Given the description of an element on the screen output the (x, y) to click on. 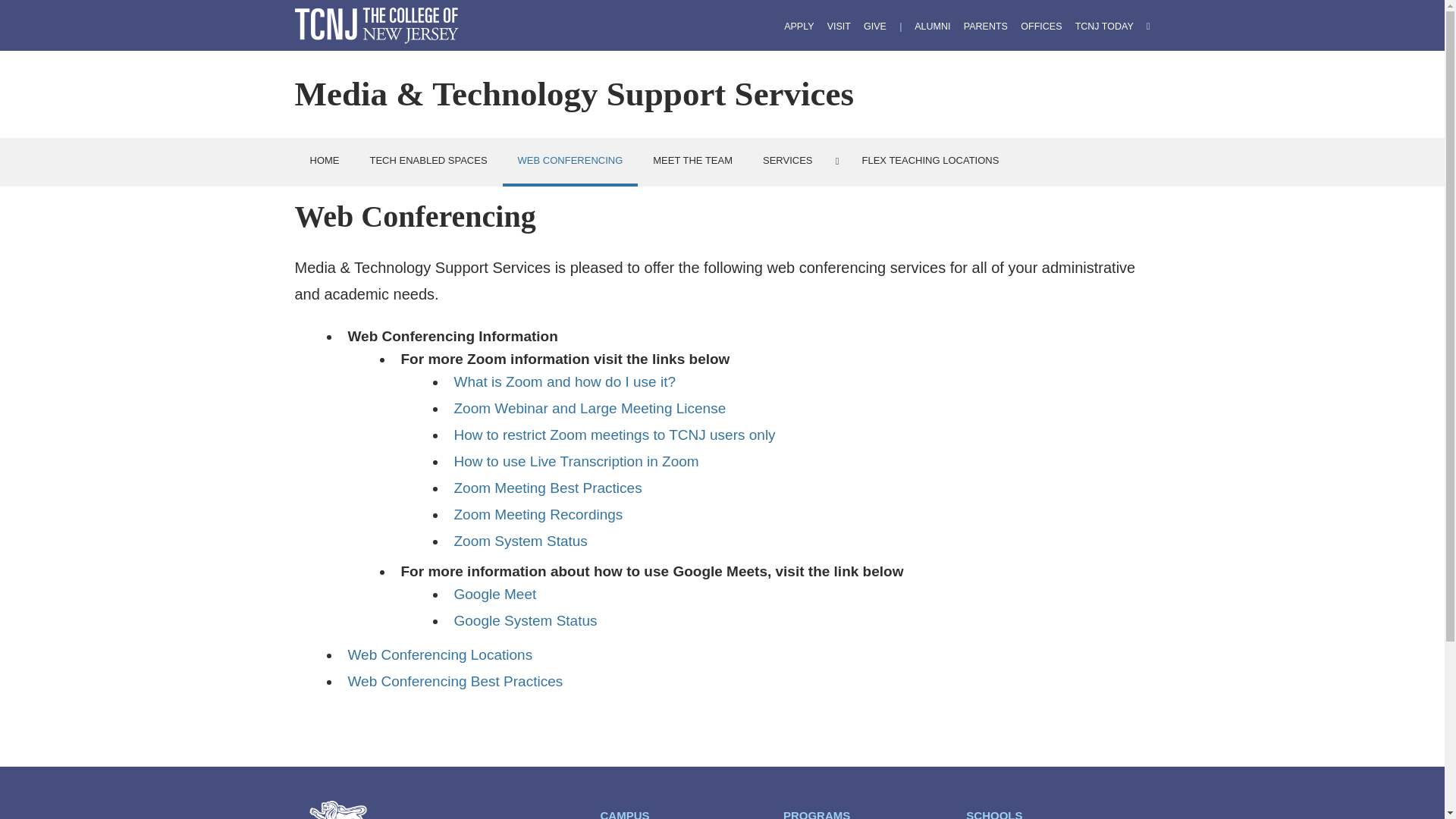
HOME (323, 160)
GIVE (874, 26)
Zoom Webinar and Large Meeting License (588, 408)
ALUMNI (932, 26)
OFFICES (1040, 26)
MEET THE TEAM (692, 160)
WEB CONFERENCING (570, 162)
FLEX TEACHING LOCATIONS (930, 160)
Zoom System Status (519, 540)
